Given the description of an element on the screen output the (x, y) to click on. 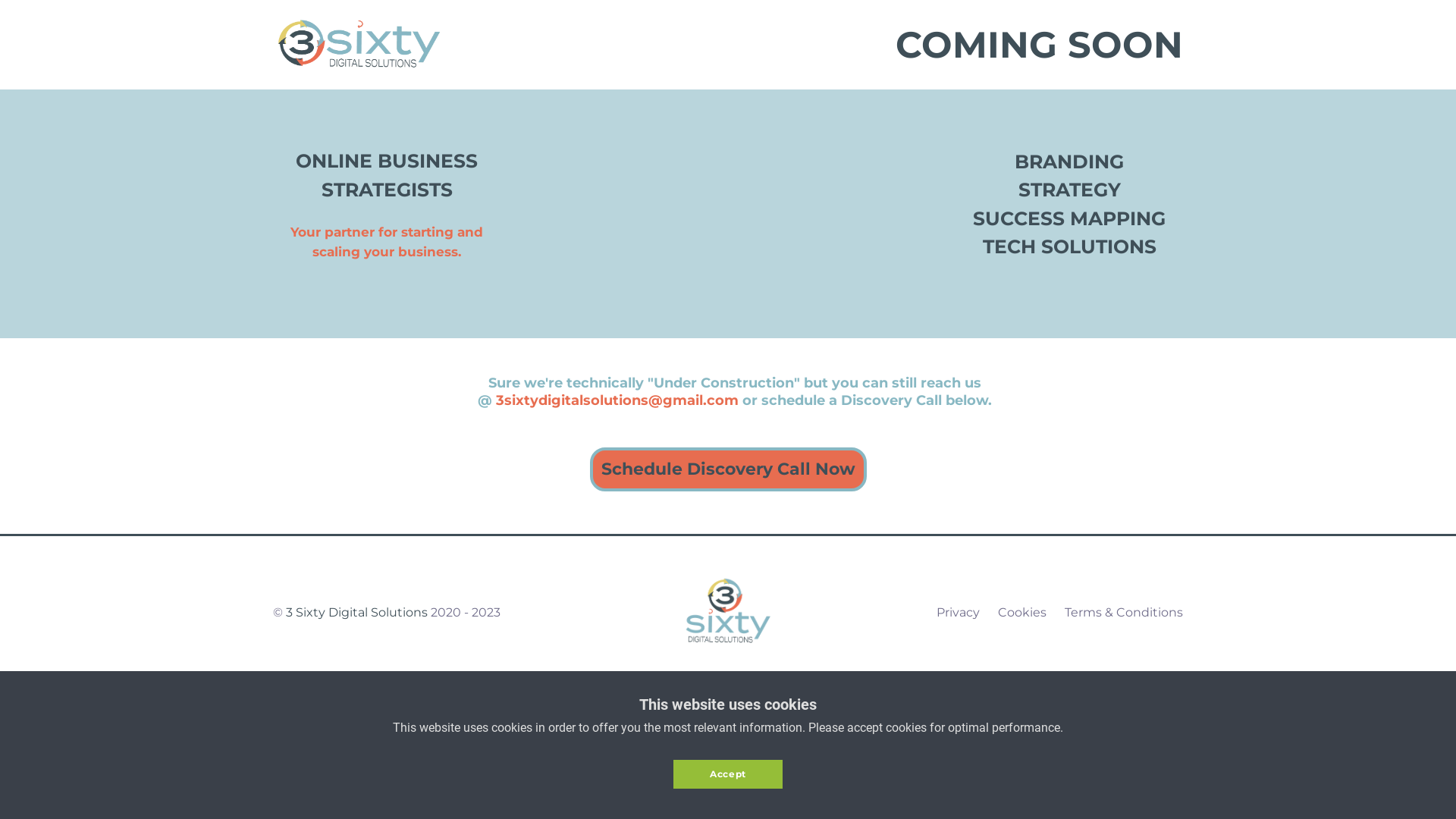
Cookies Element type: text (1021, 612)
Terms & Conditions Element type: text (1123, 612)
Privacy Element type: text (957, 612)
Schedule Discovery Call Now Element type: text (727, 452)
Accept Element type: text (727, 773)
